Given the description of an element on the screen output the (x, y) to click on. 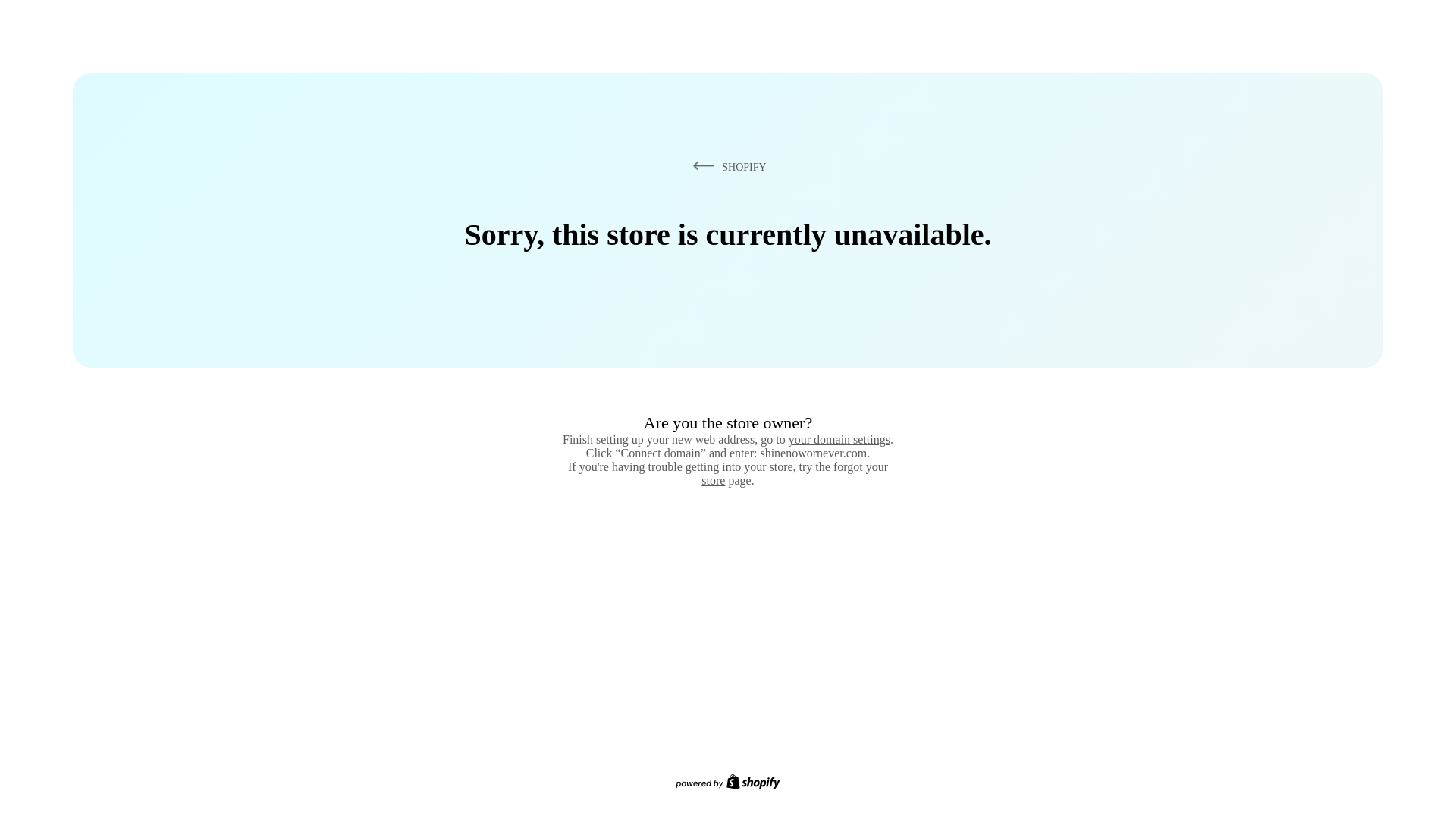
SHOPIFY (726, 166)
forgot your store (794, 473)
your domain settings (839, 439)
